Given the description of an element on the screen output the (x, y) to click on. 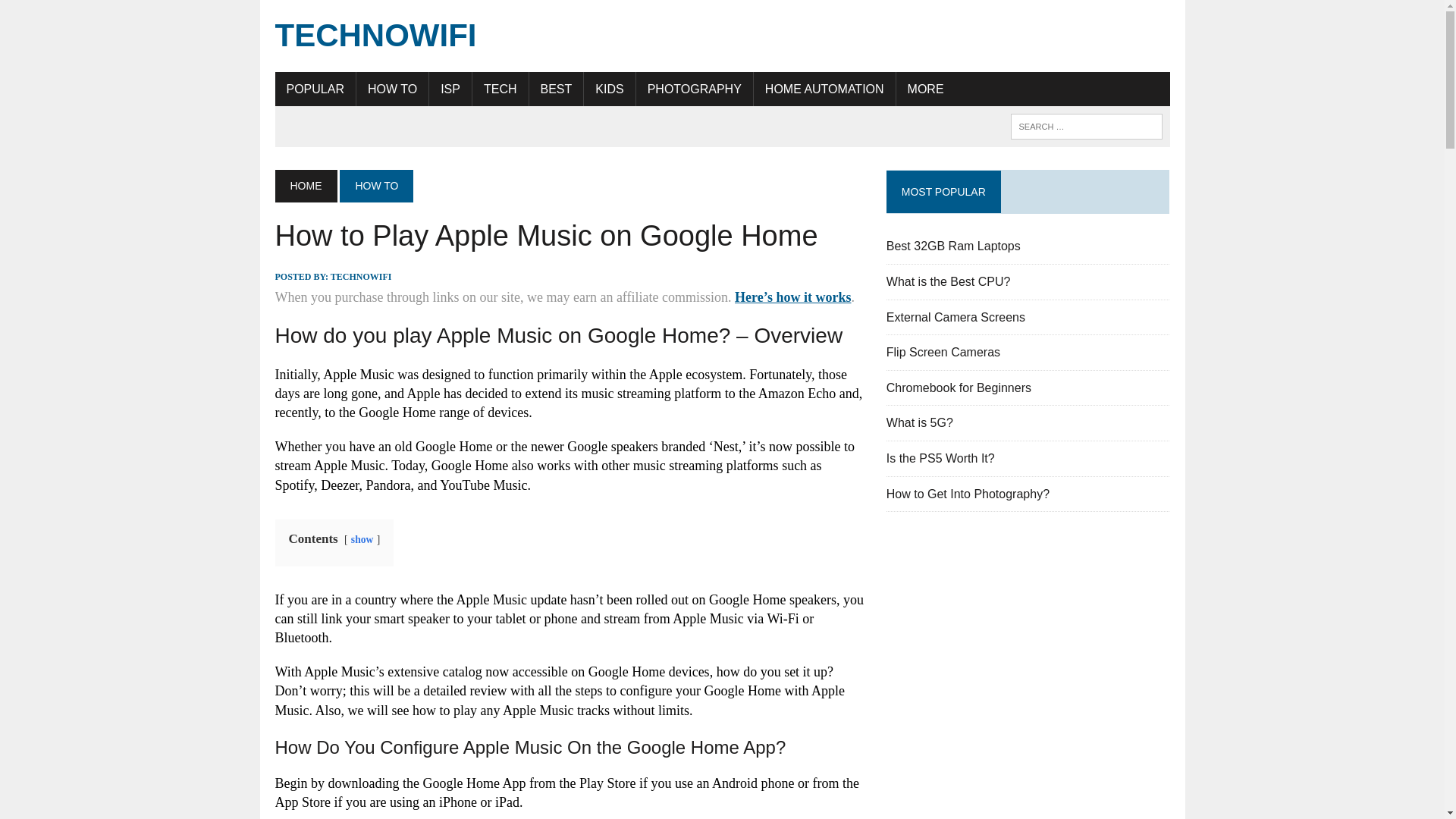
TECHNOWIFI (722, 35)
TechnoWifi (722, 35)
